Given the description of an element on the screen output the (x, y) to click on. 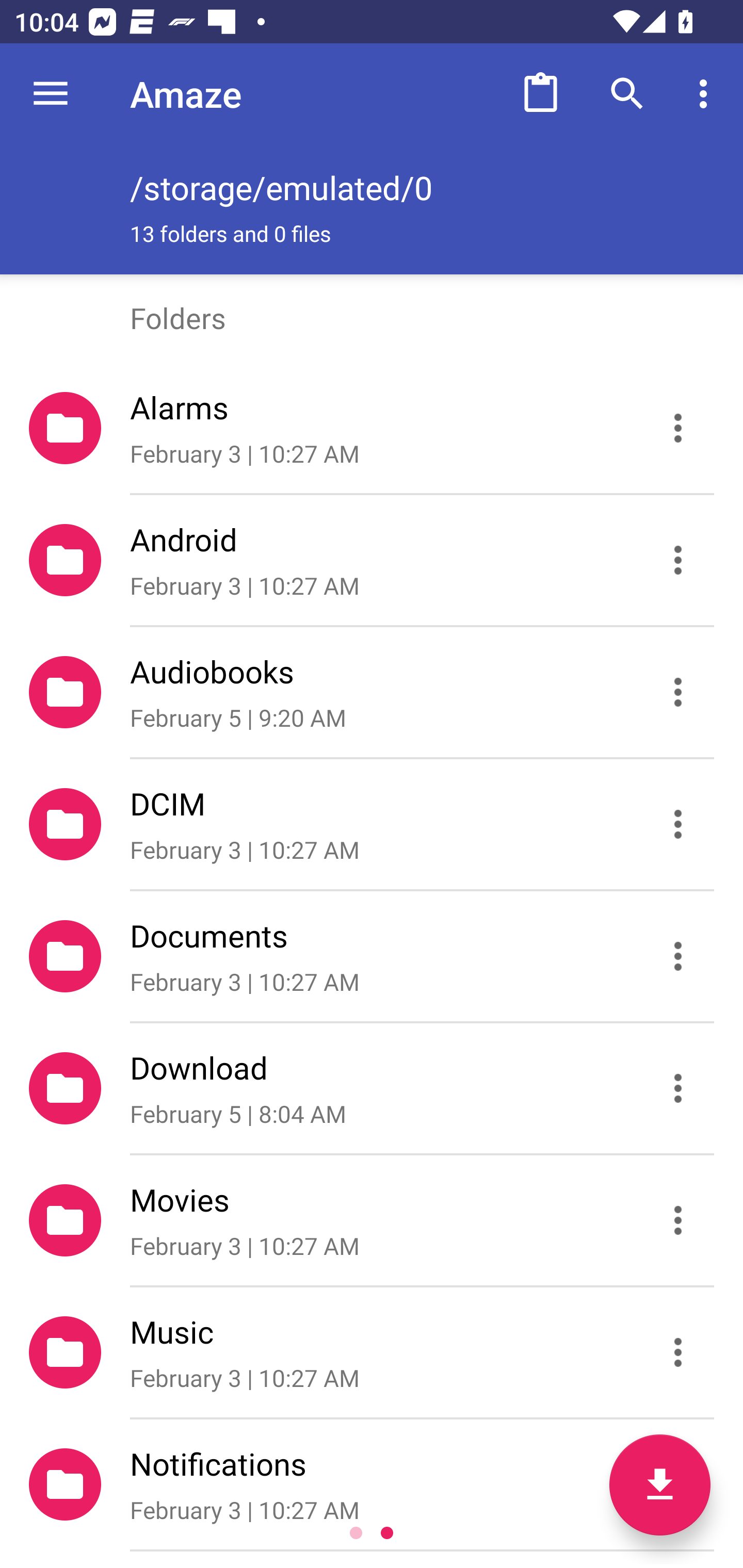
Navigate up (50, 93)
Paste (540, 93)
Search (626, 93)
More options (706, 93)
Alarms February 3 | 10:27 AM (371, 427)
Android February 3 | 10:27 AM (371, 560)
Audiobooks February 5 | 9:20 AM (371, 692)
DCIM February 3 | 10:27 AM (371, 823)
Documents February 3 | 10:27 AM (371, 955)
Download February 5 | 8:04 AM (371, 1088)
Movies February 3 | 10:27 AM (371, 1220)
Music February 3 | 10:27 AM (371, 1352)
Notifications February 3 | 10:27 AM (371, 1484)
